Given the description of an element on the screen output the (x, y) to click on. 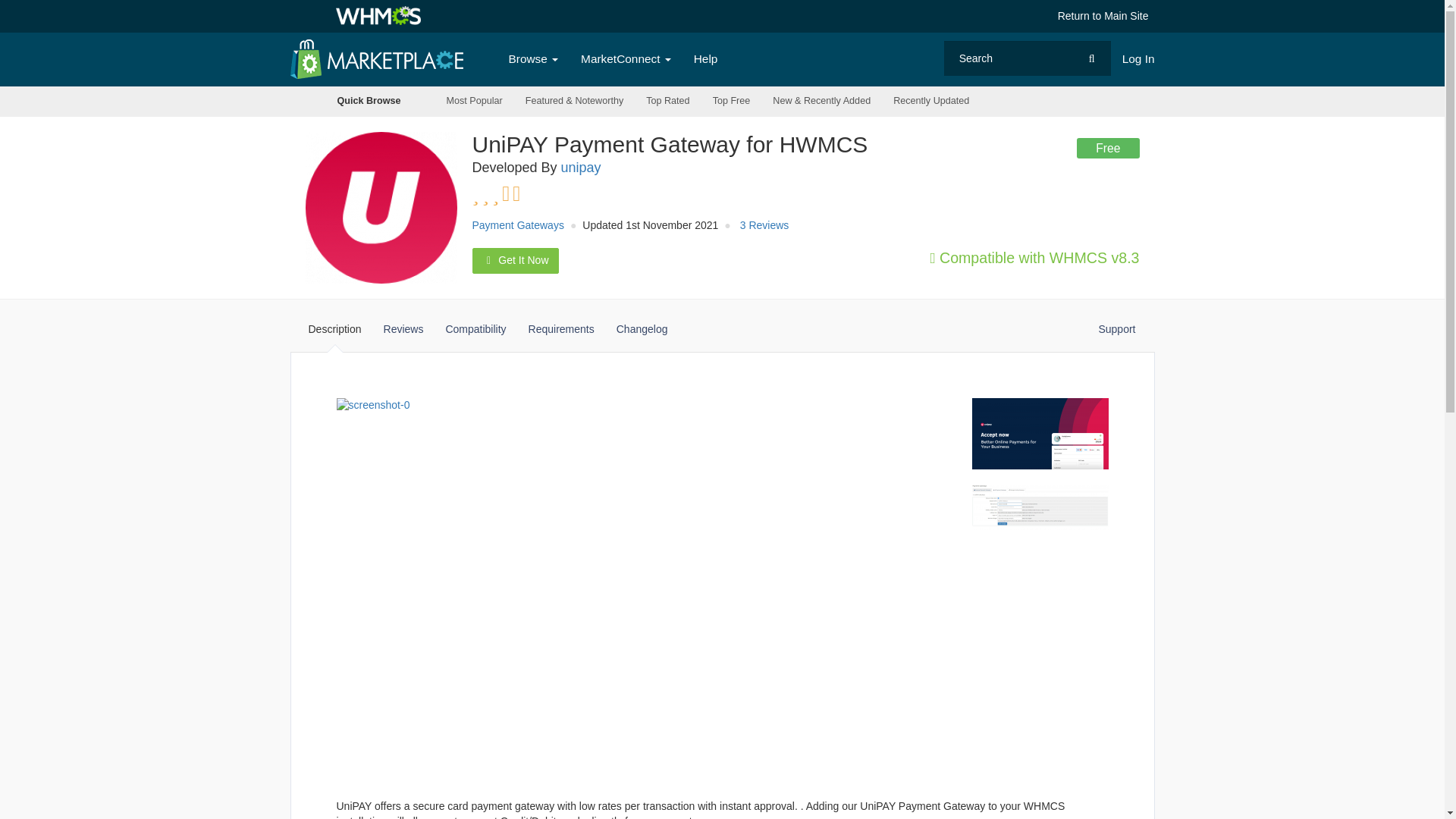
Log In (1138, 58)
great (533, 194)
Top Rated (667, 101)
Most Popular (474, 101)
Payment Gateways (517, 224)
Recently Updated (930, 101)
unipay (580, 167)
Top Free (731, 101)
MarketConnect (625, 58)
Help (705, 58)
